Given the description of an element on the screen output the (x, y) to click on. 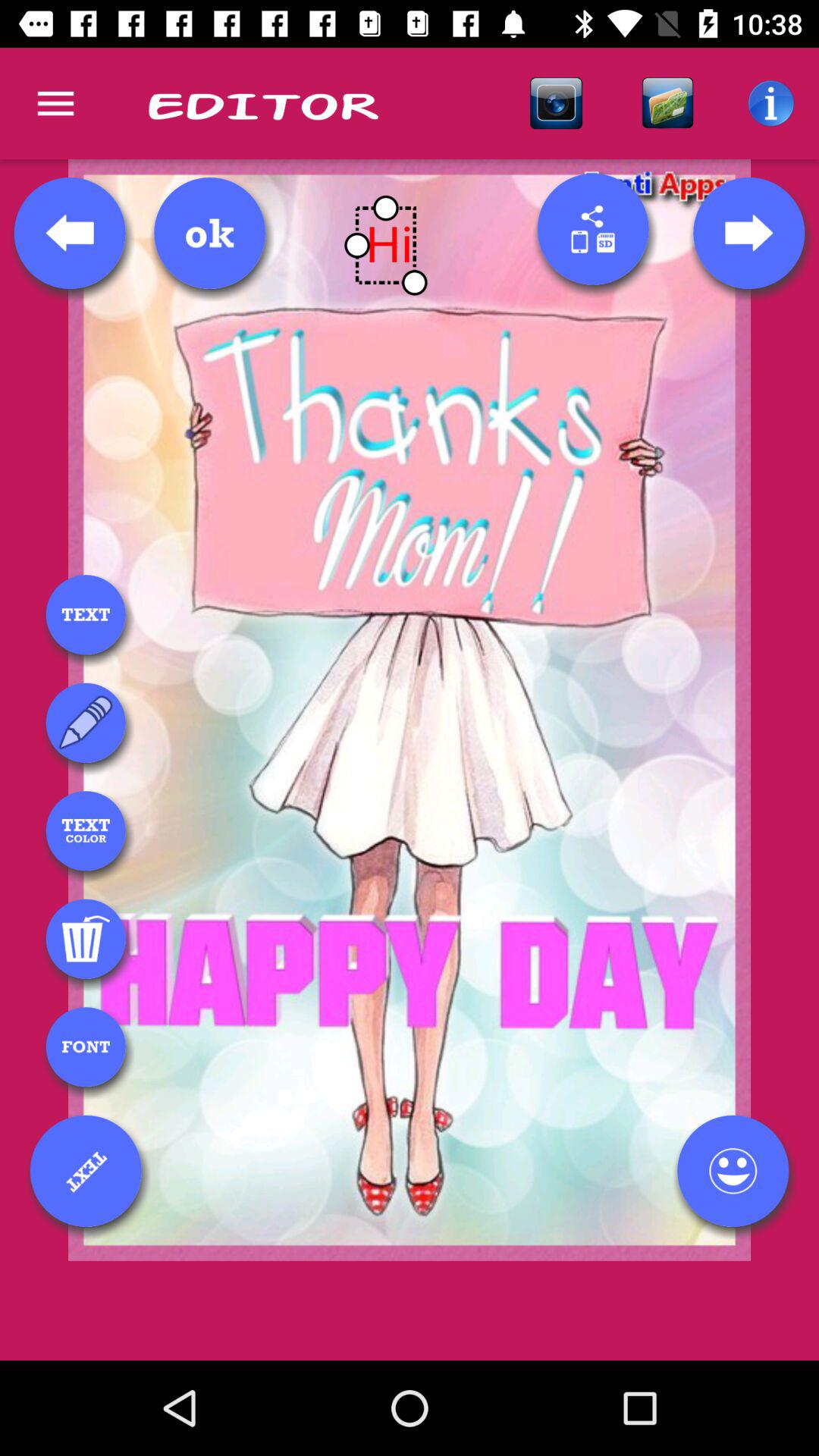
ok (209, 233)
